Given the description of an element on the screen output the (x, y) to click on. 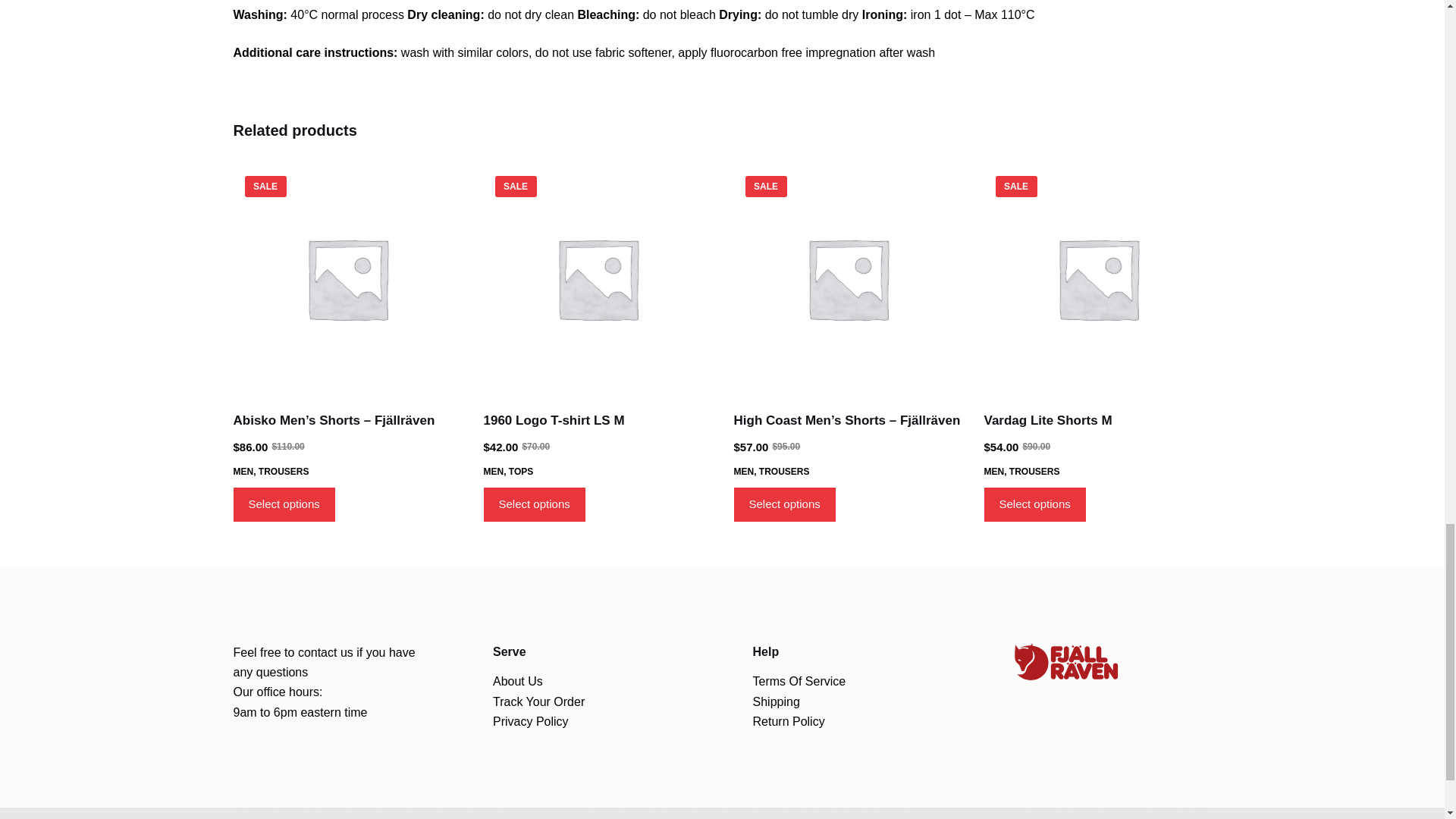
woocommerce-placeholder (597, 278)
woocommerce-placeholder (346, 278)
woocommerce-placeholder (846, 278)
woocommerce-placeholder (1097, 278)
